Given the description of an element on the screen output the (x, y) to click on. 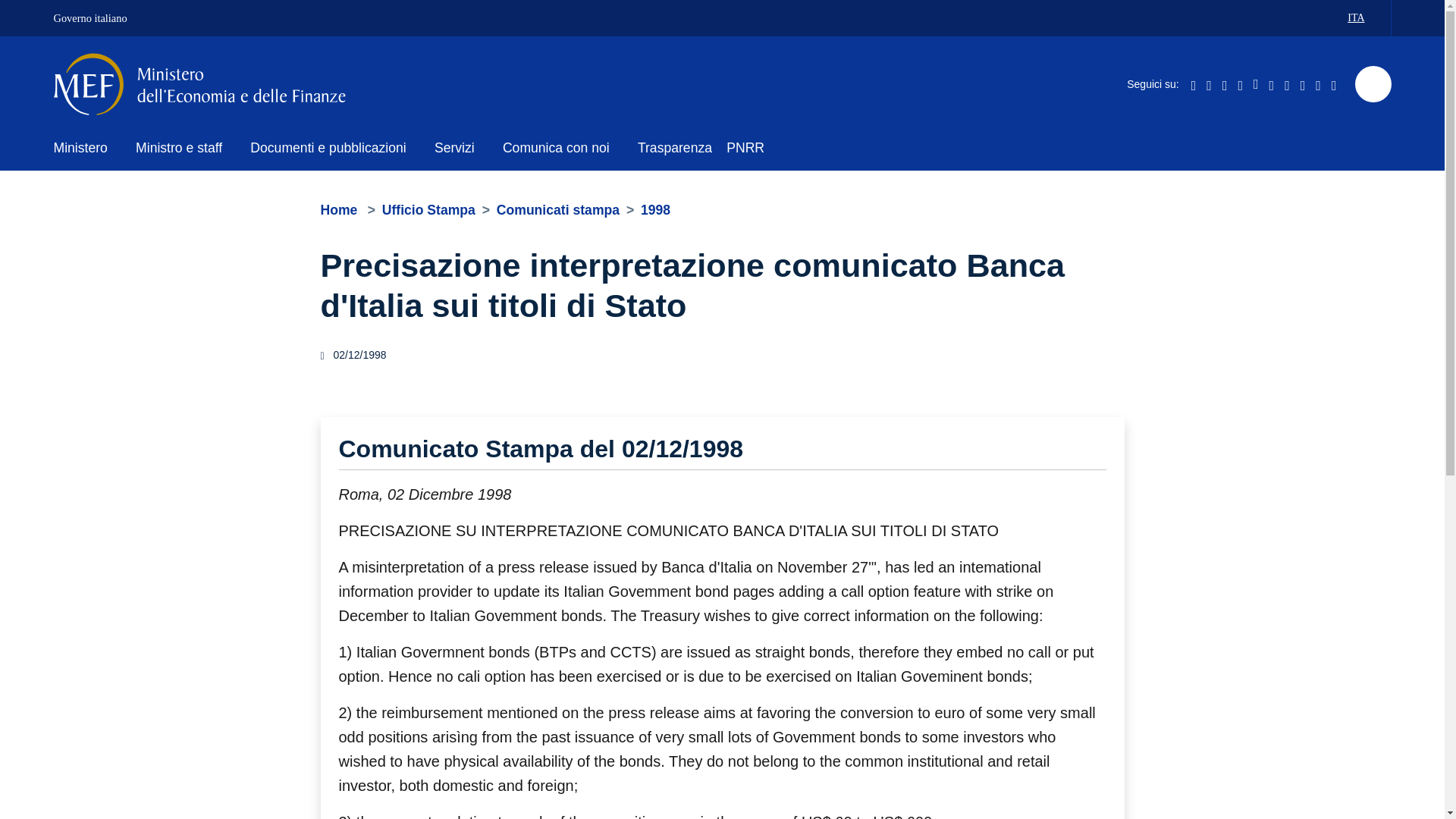
Governo italiano (107, 18)
Impostazioni (1320, 18)
Ricerca (1372, 84)
Impostazioni (1362, 18)
Condividi sui social (1320, 18)
Ministero (1111, 305)
Home page - Ministero dell' Economia e delle Finanze (86, 148)
